Given the description of an element on the screen output the (x, y) to click on. 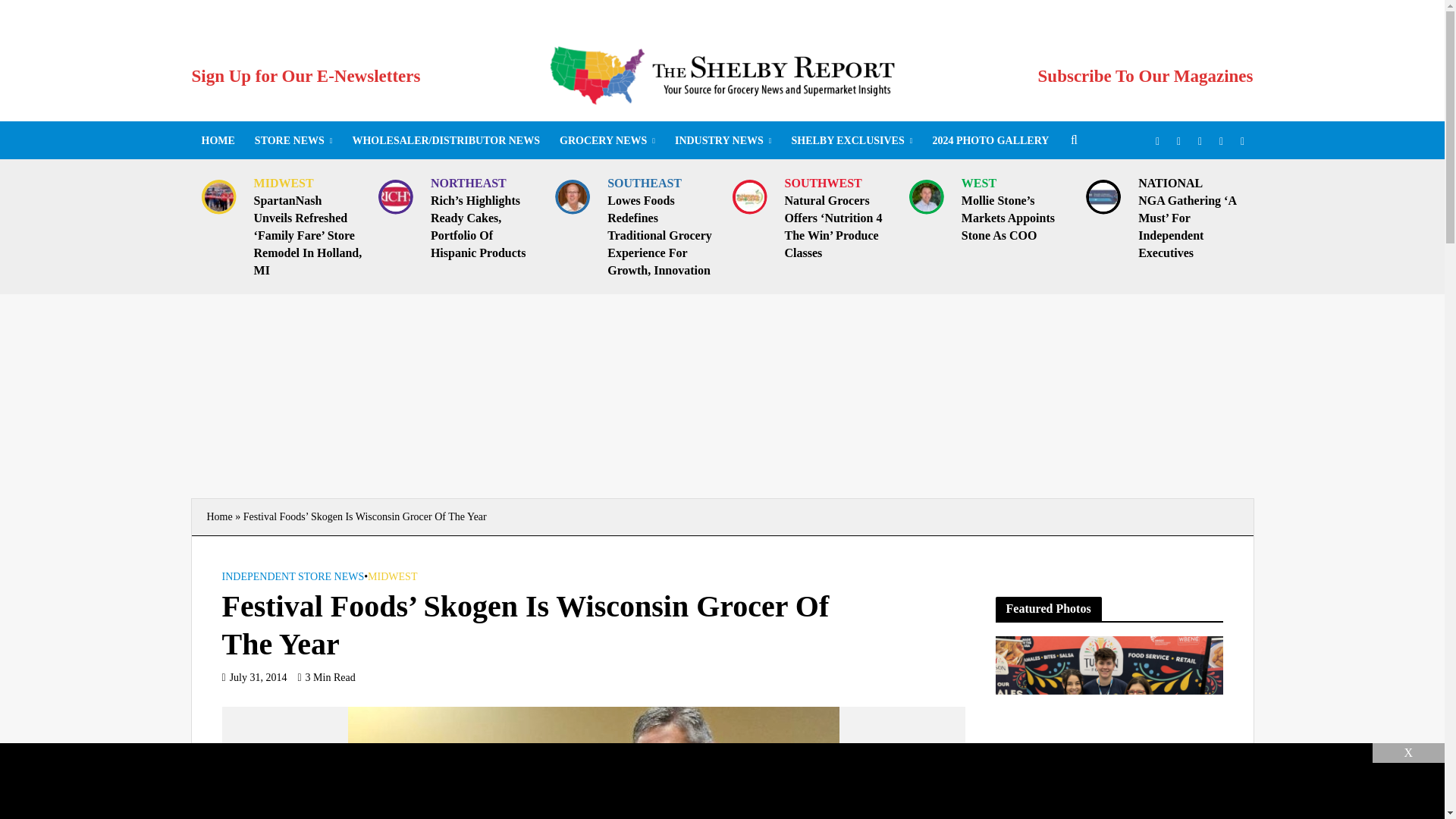
STORE NEWS (293, 140)
Sign Up for Our E-Newsletters (305, 76)
INDUSTRY NEWS (723, 140)
GROCERY NEWS (607, 140)
SHELBY EXCLUSIVES (850, 140)
HOME (217, 140)
Subscribe To Our Magazines (1145, 76)
